Given the description of an element on the screen output the (x, y) to click on. 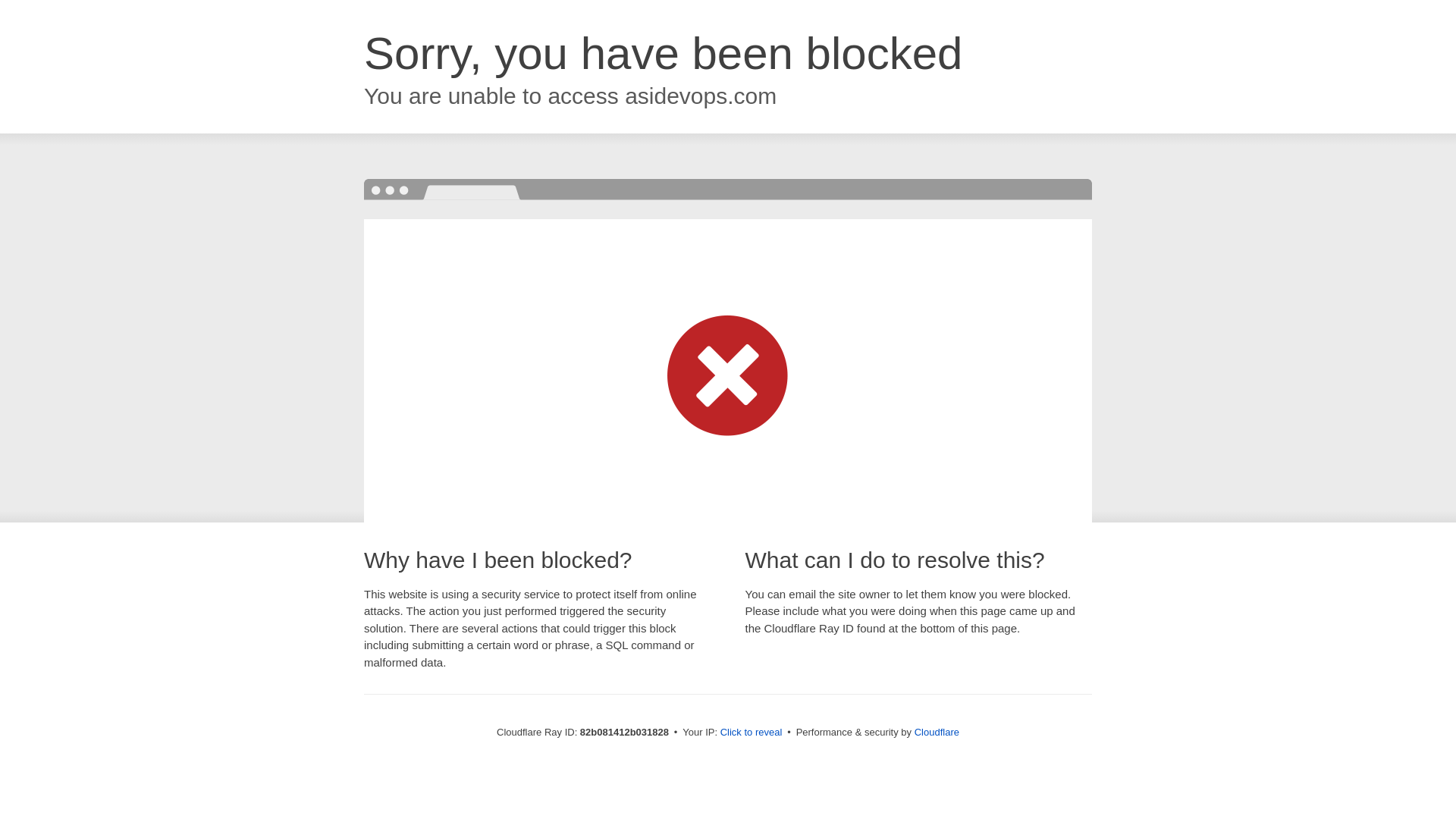
Cloudflare Element type: text (936, 731)
Click to reveal Element type: text (751, 732)
